Given the description of an element on the screen output the (x, y) to click on. 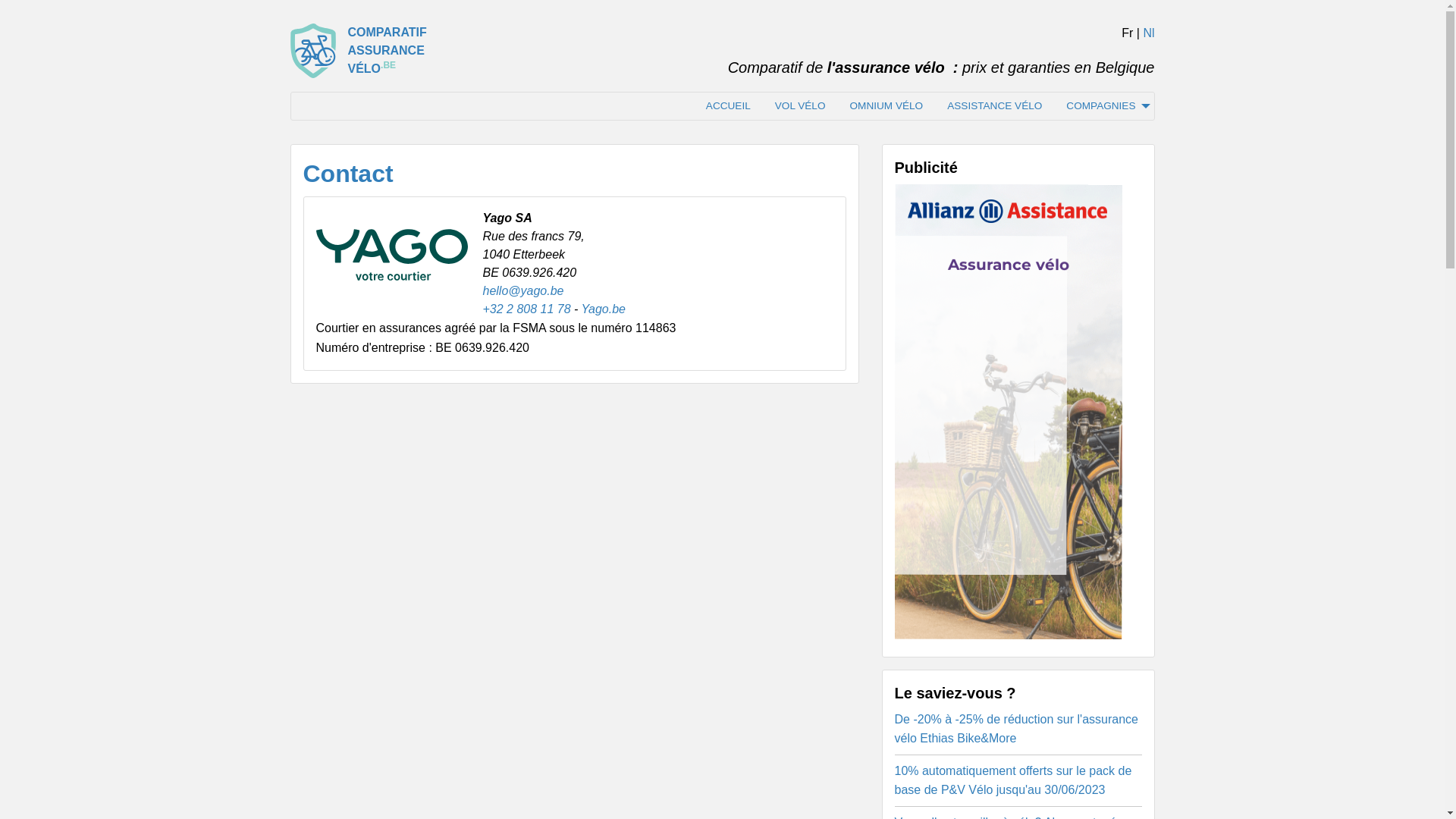
Nl Element type: text (1148, 32)
Yago.be Element type: text (603, 308)
COMPAGNIES Element type: text (1103, 105)
ACCUEIL Element type: text (727, 105)
hello@yago.be Element type: text (522, 290)
+32 2 808 11 78 Element type: text (526, 308)
